Given the description of an element on the screen output the (x, y) to click on. 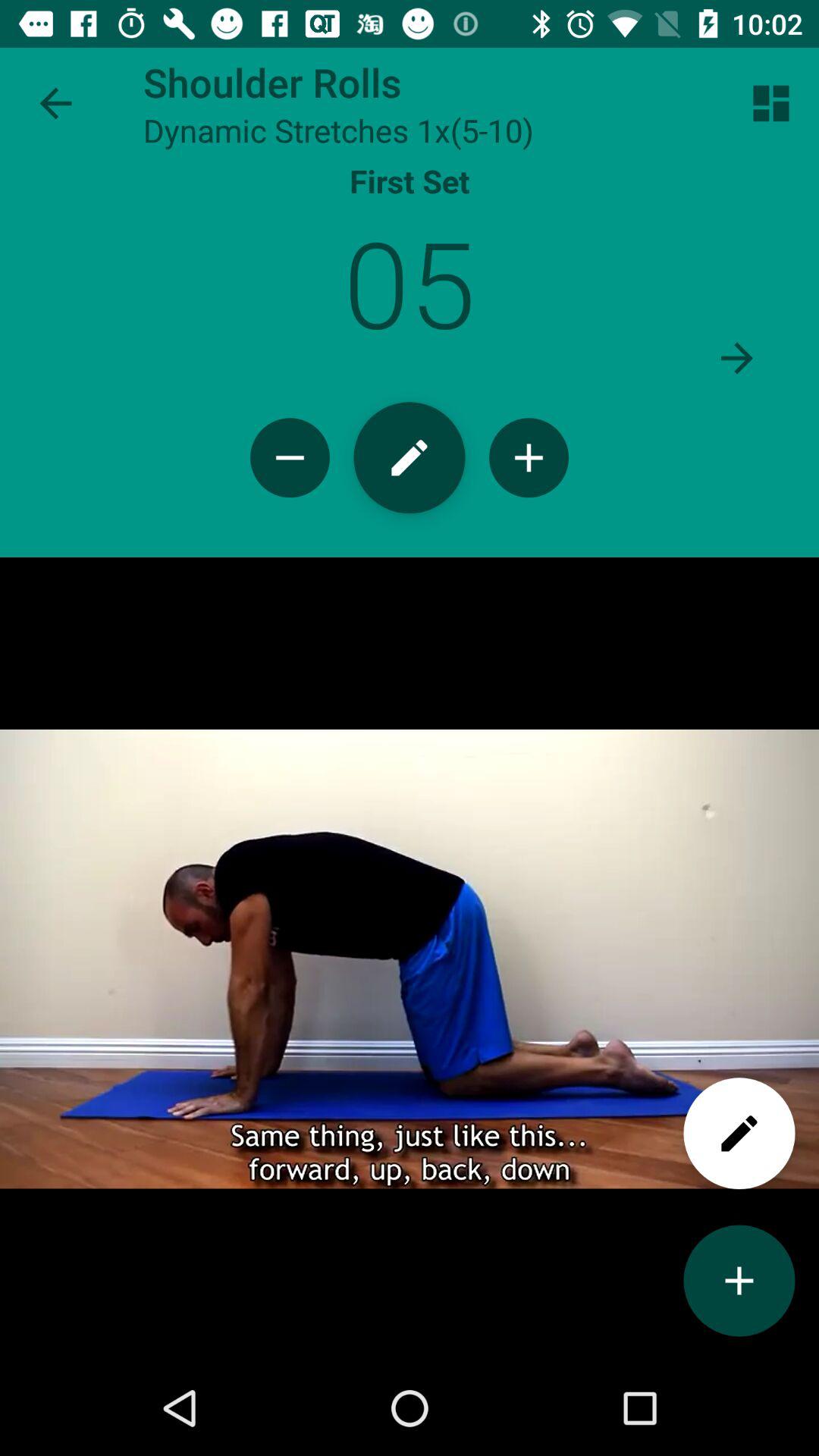
forward (737, 358)
